Given the description of an element on the screen output the (x, y) to click on. 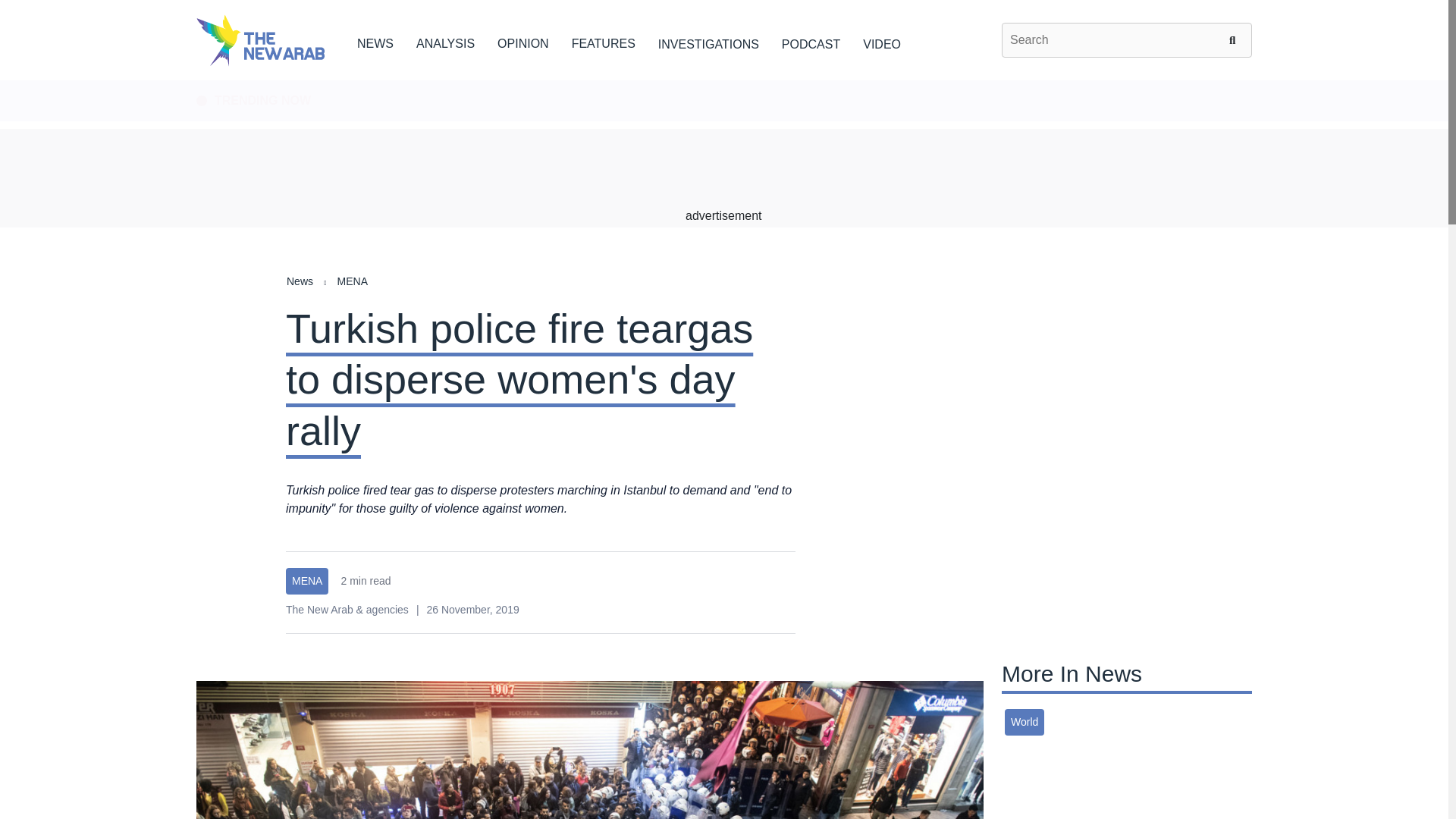
ANALYSIS (445, 41)
NEWS (375, 41)
OPINION (523, 41)
Search (1234, 39)
Skip to main content (724, 81)
